Given the description of an element on the screen output the (x, y) to click on. 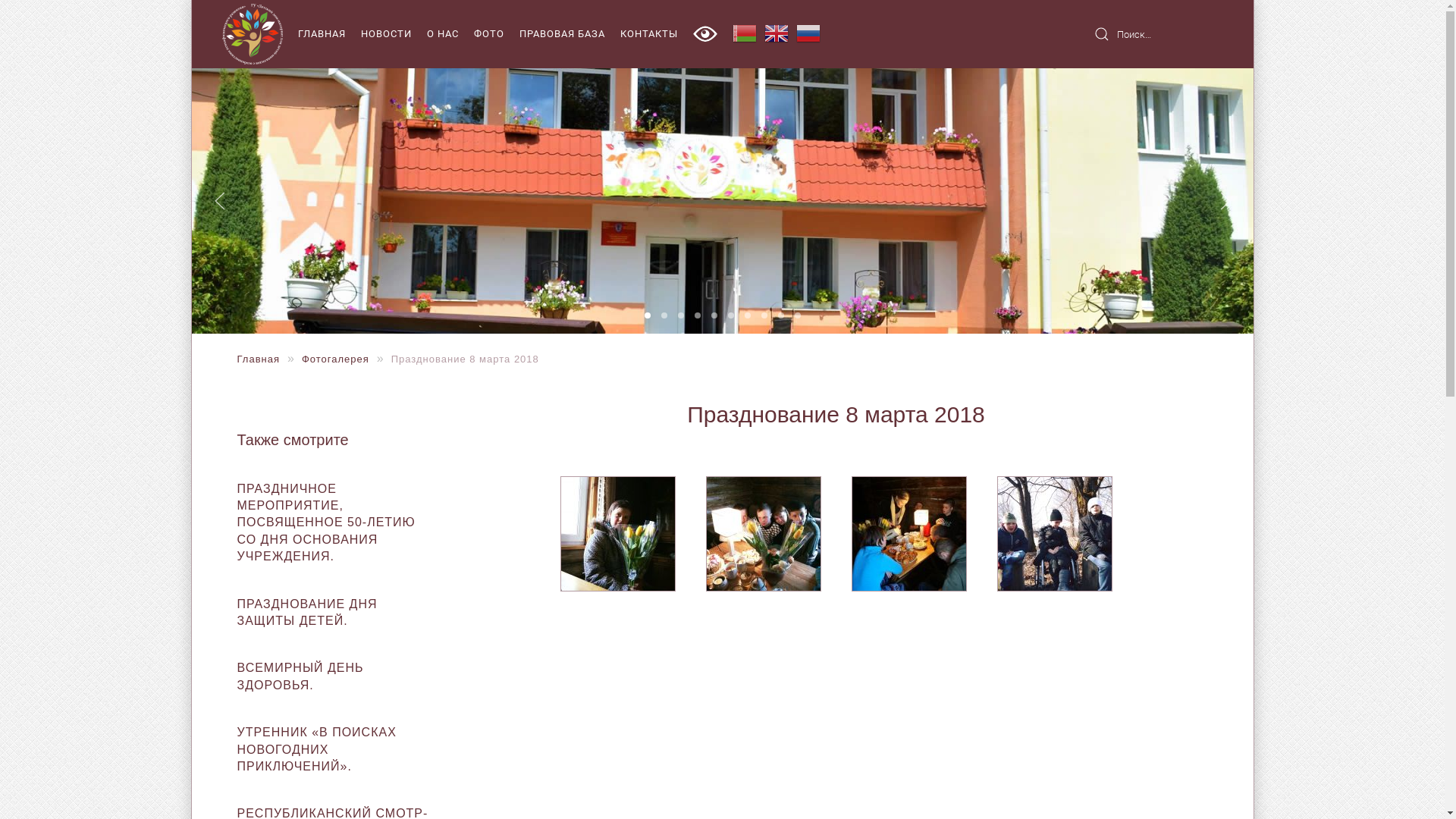
English Element type: hover (776, 42)
